Given the description of an element on the screen output the (x, y) to click on. 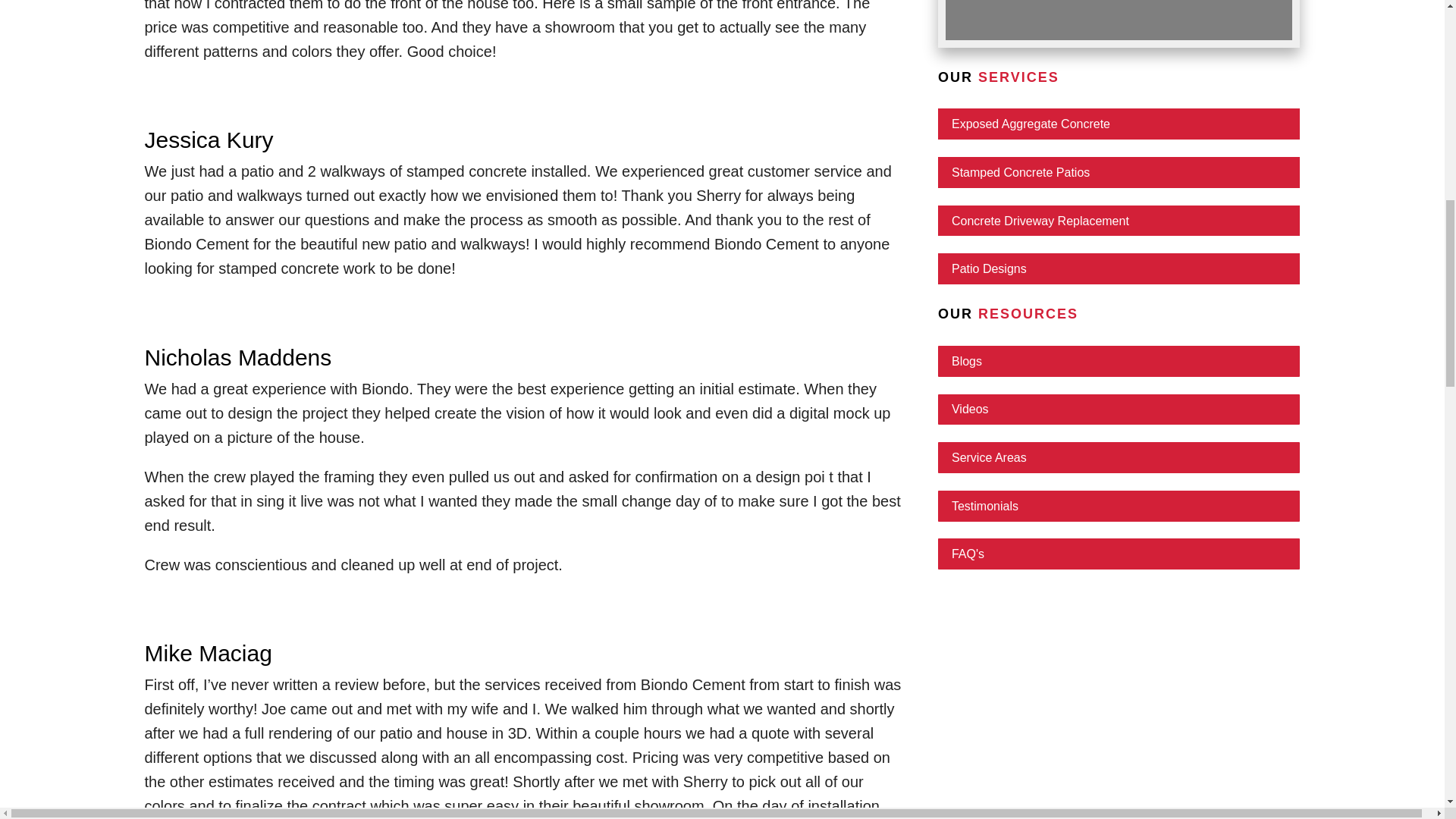
Stamped Concrete Patios (1118, 172)
Blogs (1118, 360)
Videos (1118, 409)
Service Areas (1118, 457)
FAQ's (1118, 553)
Testimonials (1118, 505)
Exposed Aggregate Concrete (1118, 123)
Concrete Driveway Replacement (1118, 220)
Patio Designs (1118, 268)
